Given the description of an element on the screen output the (x, y) to click on. 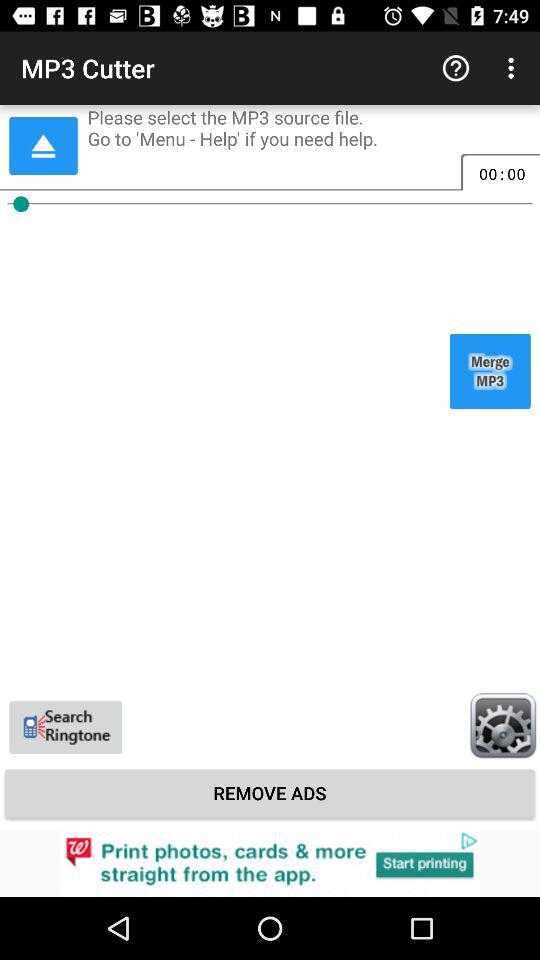
visualizar anncio (270, 864)
